Given the description of an element on the screen output the (x, y) to click on. 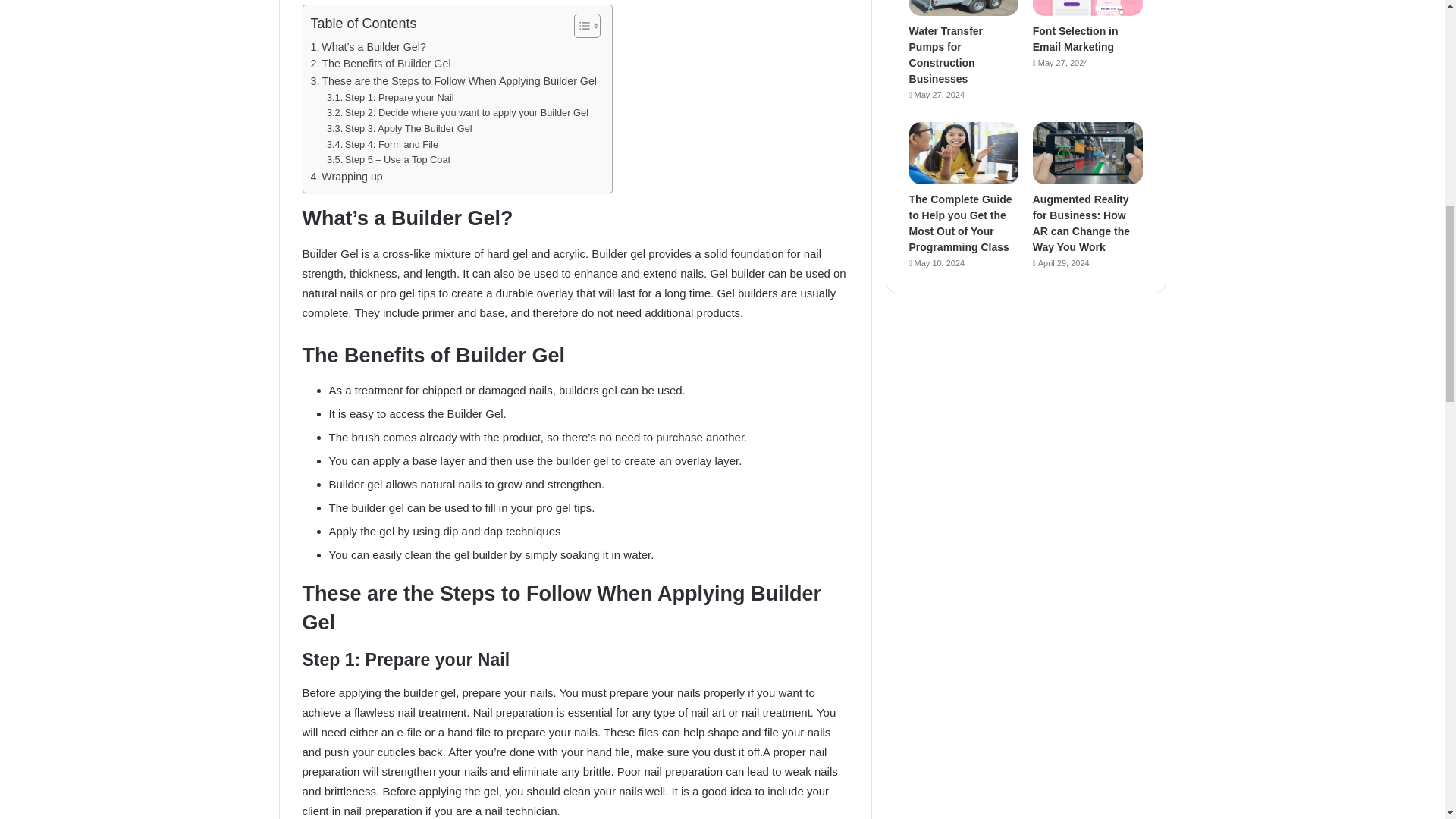
Step 2: Decide where you want to apply your Builder Gel (457, 113)
The Benefits of Builder Gel (381, 63)
Step 3: Apply The Builder Gel (398, 129)
Step 1: Prepare your Nail (390, 98)
Step 3: Apply The Builder Gel (398, 129)
Step 4: Form and File (382, 145)
These are the Steps to Follow When Applying Builder Gel (453, 81)
The Benefits of Builder Gel (381, 63)
Wrapping up (346, 176)
Step 2: Decide where you want to apply your Builder Gel (457, 113)
These are the Steps to Follow When Applying Builder Gel (453, 81)
Step 4: Form and File (382, 145)
Wrapping up (346, 176)
Step 1: Prepare your Nail (390, 98)
